Given the description of an element on the screen output the (x, y) to click on. 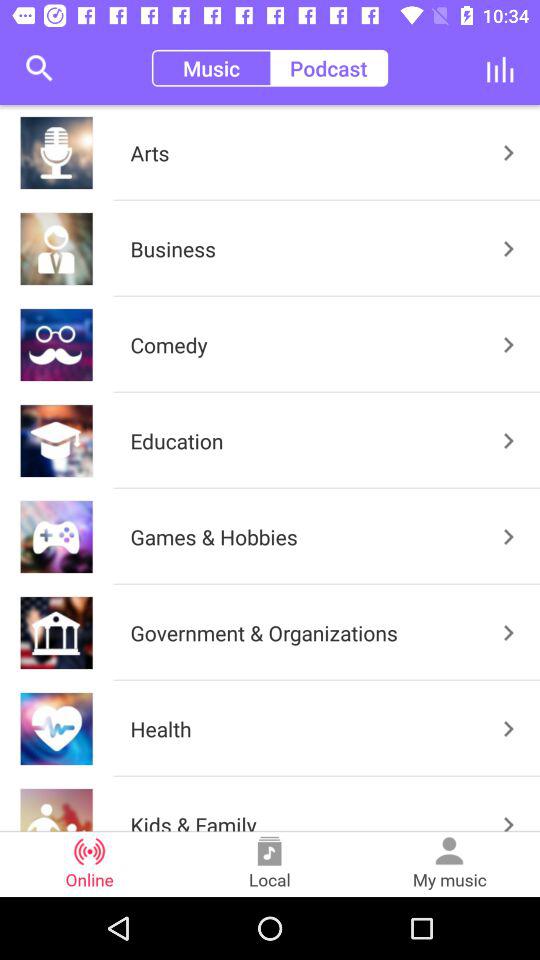
tap the icon to the right of the online item (270, 863)
